Given the description of an element on the screen output the (x, y) to click on. 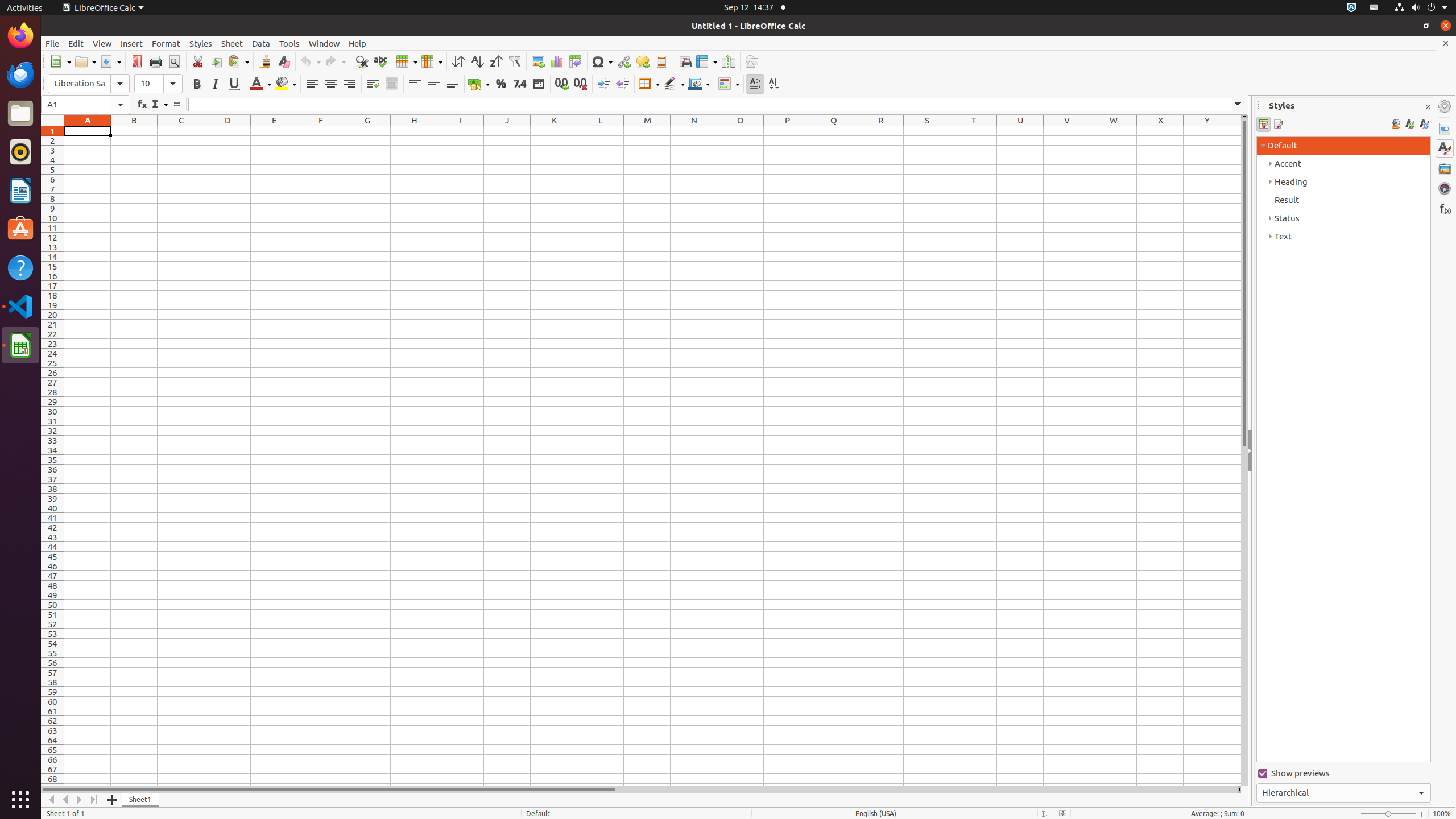
Move Left Element type: push-button (65, 799)
Align Top Element type: push-button (414, 83)
Navigator Element type: radio-button (1444, 188)
Underline Element type: push-button (233, 83)
Symbol Element type: push-button (601, 61)
